Given the description of an element on the screen output the (x, y) to click on. 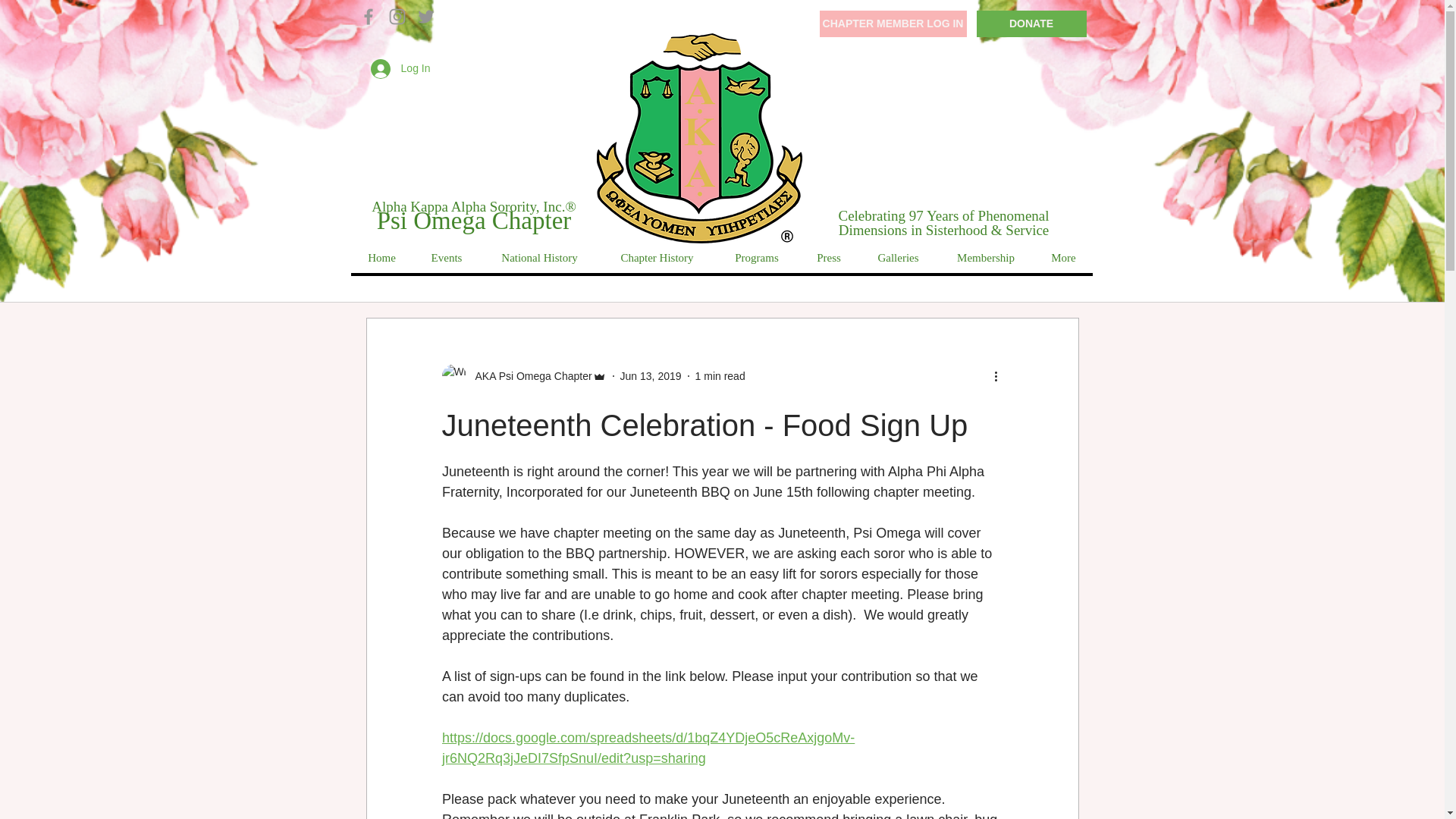
DONATE (1031, 23)
Log In (400, 68)
Press (828, 257)
CHAPTER MEMBER LOG IN (892, 23)
AKA Psi Omega Chapter (528, 376)
Events (445, 257)
Home (381, 257)
AKA Psi Omega Chapter (523, 375)
Programs (755, 257)
Chapter History (656, 257)
Membership (985, 257)
Galleries (897, 257)
1 min read (720, 376)
National History (538, 257)
Jun 13, 2019 (650, 376)
